Given the description of an element on the screen output the (x, y) to click on. 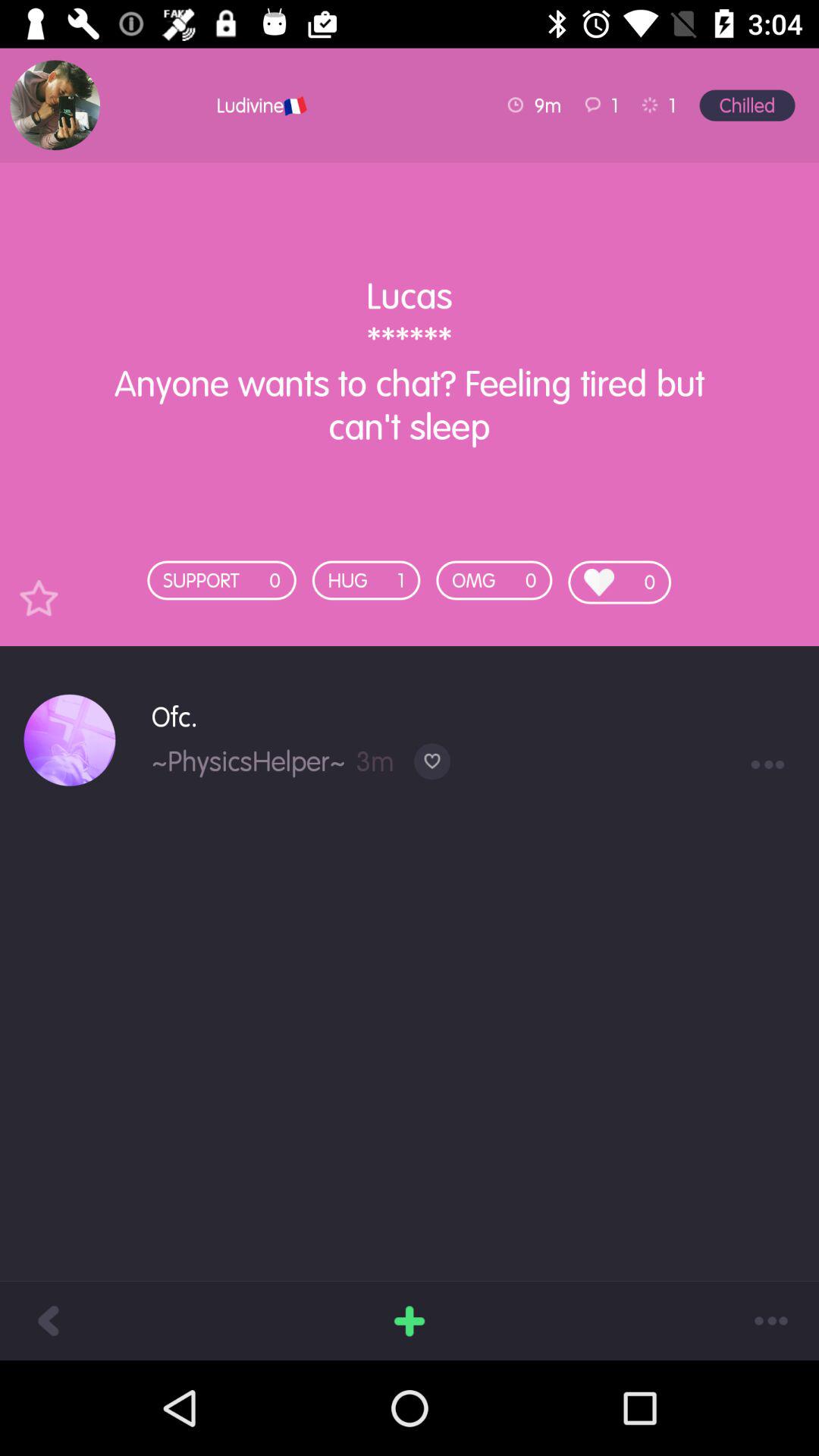
click item to the left of ofc. item (69, 740)
